Given the description of an element on the screen output the (x, y) to click on. 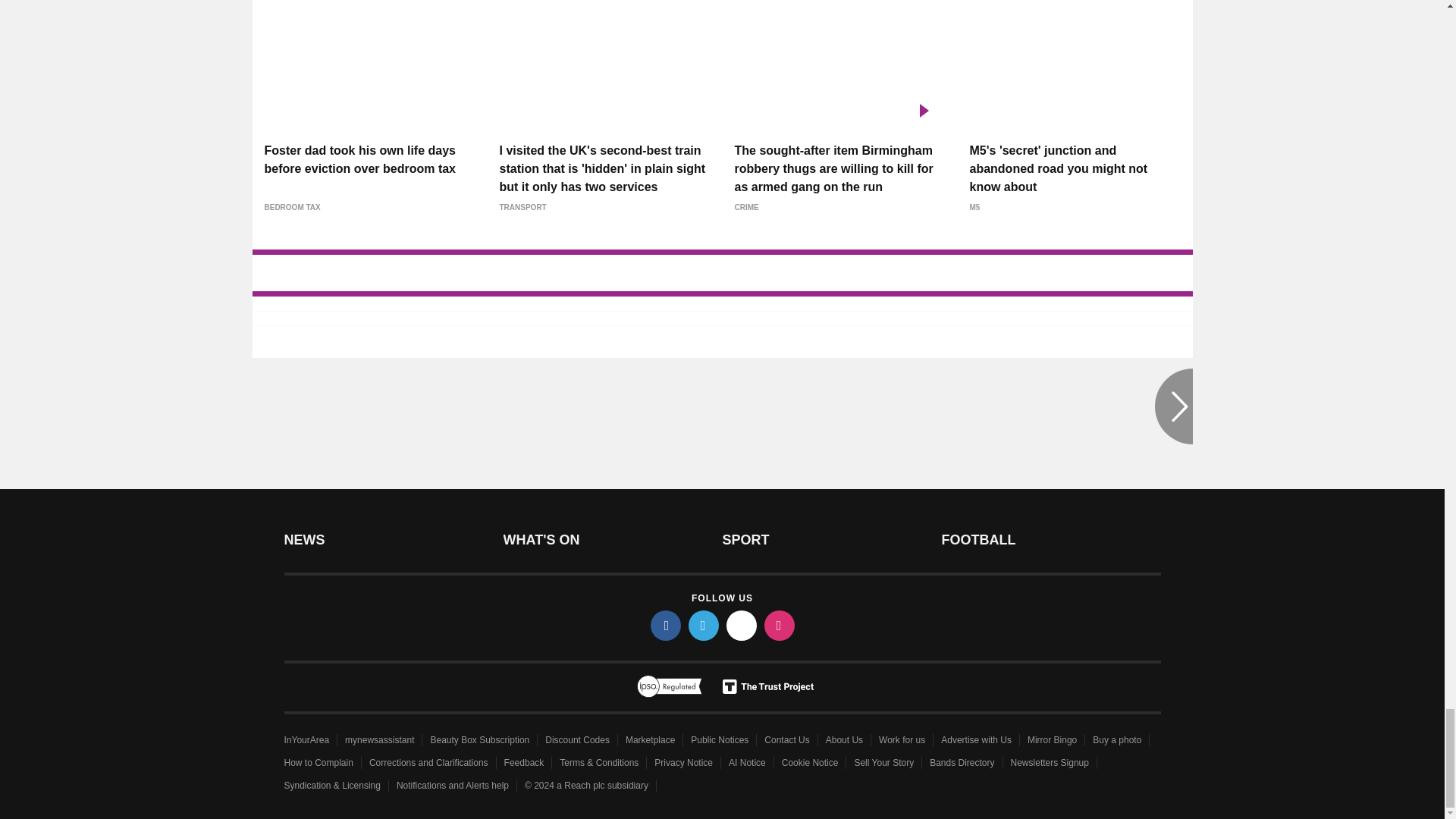
facebook (665, 625)
instagram (779, 625)
tiktok (741, 625)
twitter (703, 625)
